Given the description of an element on the screen output the (x, y) to click on. 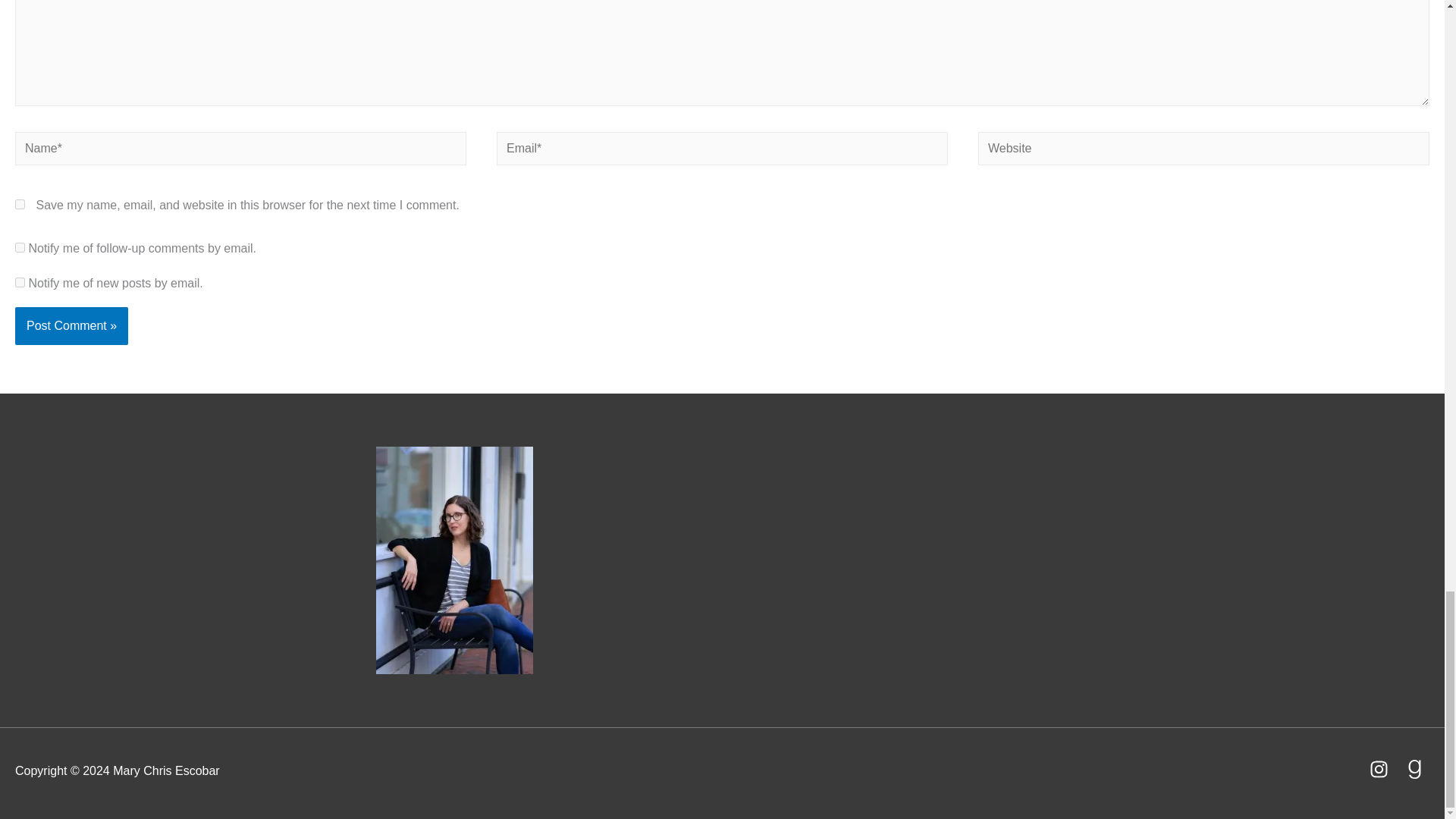
yes (19, 204)
subscribe (19, 247)
subscribe (19, 282)
